Given the description of an element on the screen output the (x, y) to click on. 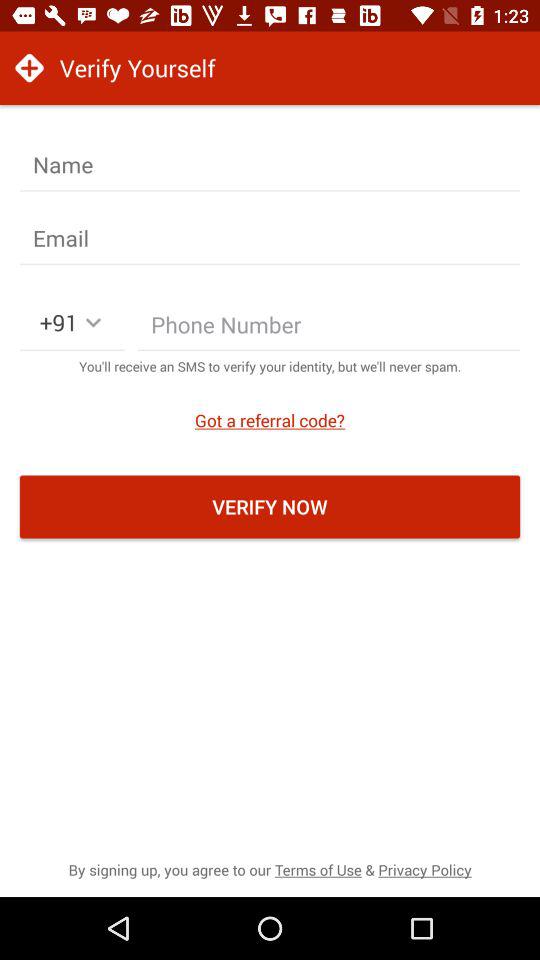
it is a verifing email adress (269, 238)
